Given the description of an element on the screen output the (x, y) to click on. 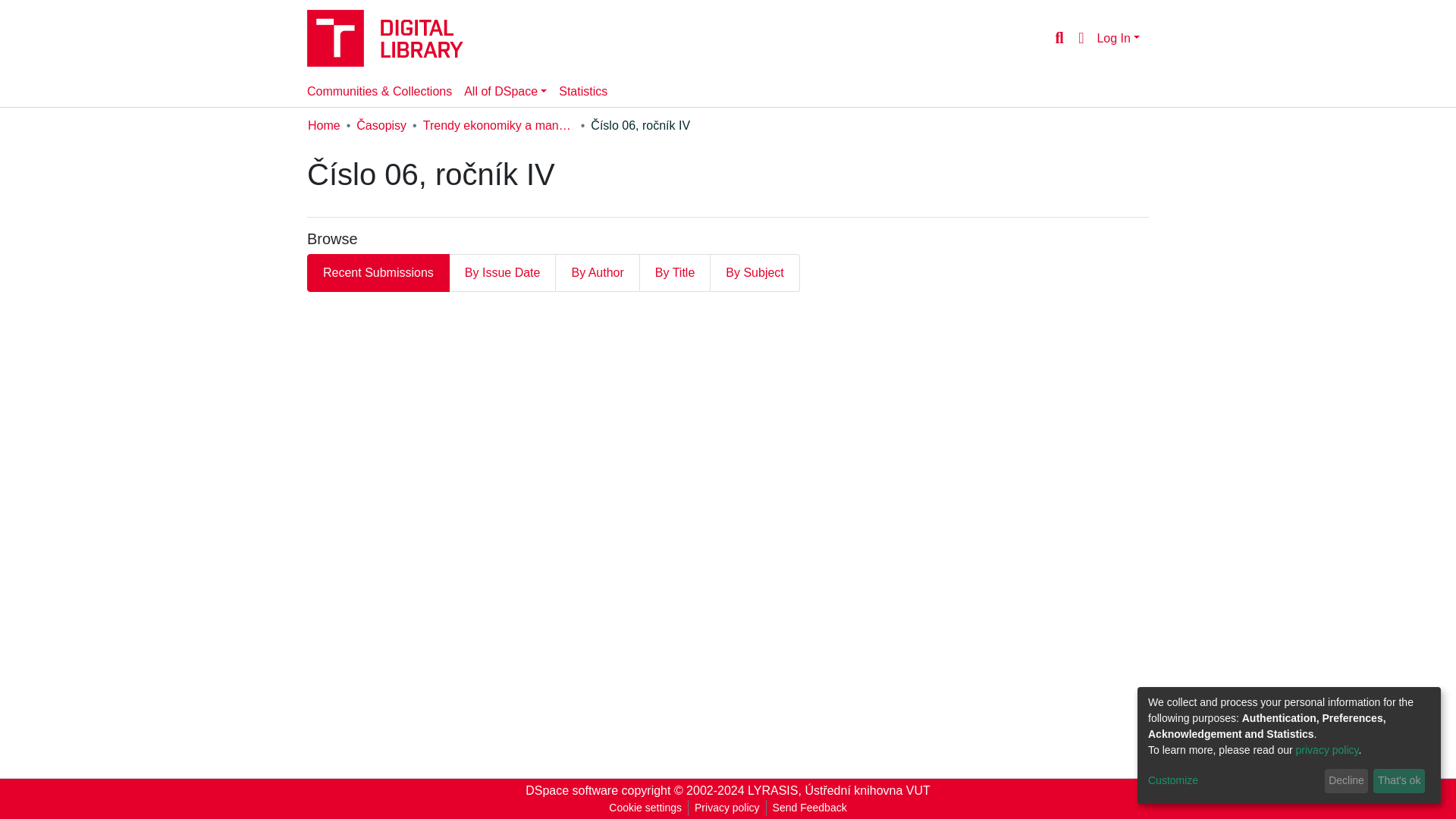
Send Feedback (810, 807)
Privacy policy (726, 807)
By Author (597, 272)
By Title (675, 272)
That's ok (1399, 781)
Statistics (582, 91)
Statistics (582, 91)
Log In (1117, 38)
DSpace software (571, 789)
LYRASIS (772, 789)
